Given the description of an element on the screen output the (x, y) to click on. 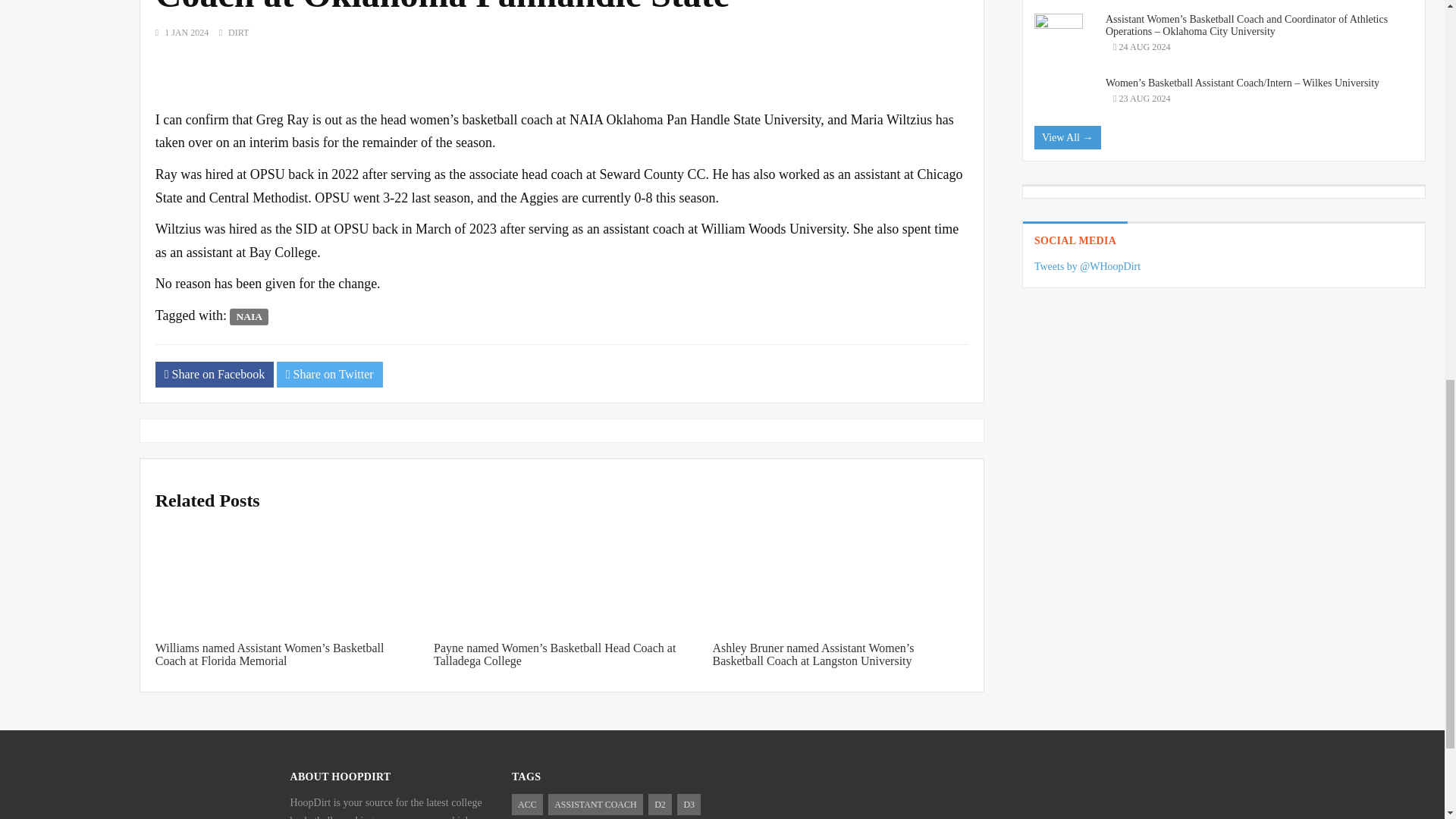
ACC (527, 803)
Share on Facebook (214, 374)
NAIA (249, 316)
DIRT (238, 32)
Share on Twitter (329, 374)
